Given the description of an element on the screen output the (x, y) to click on. 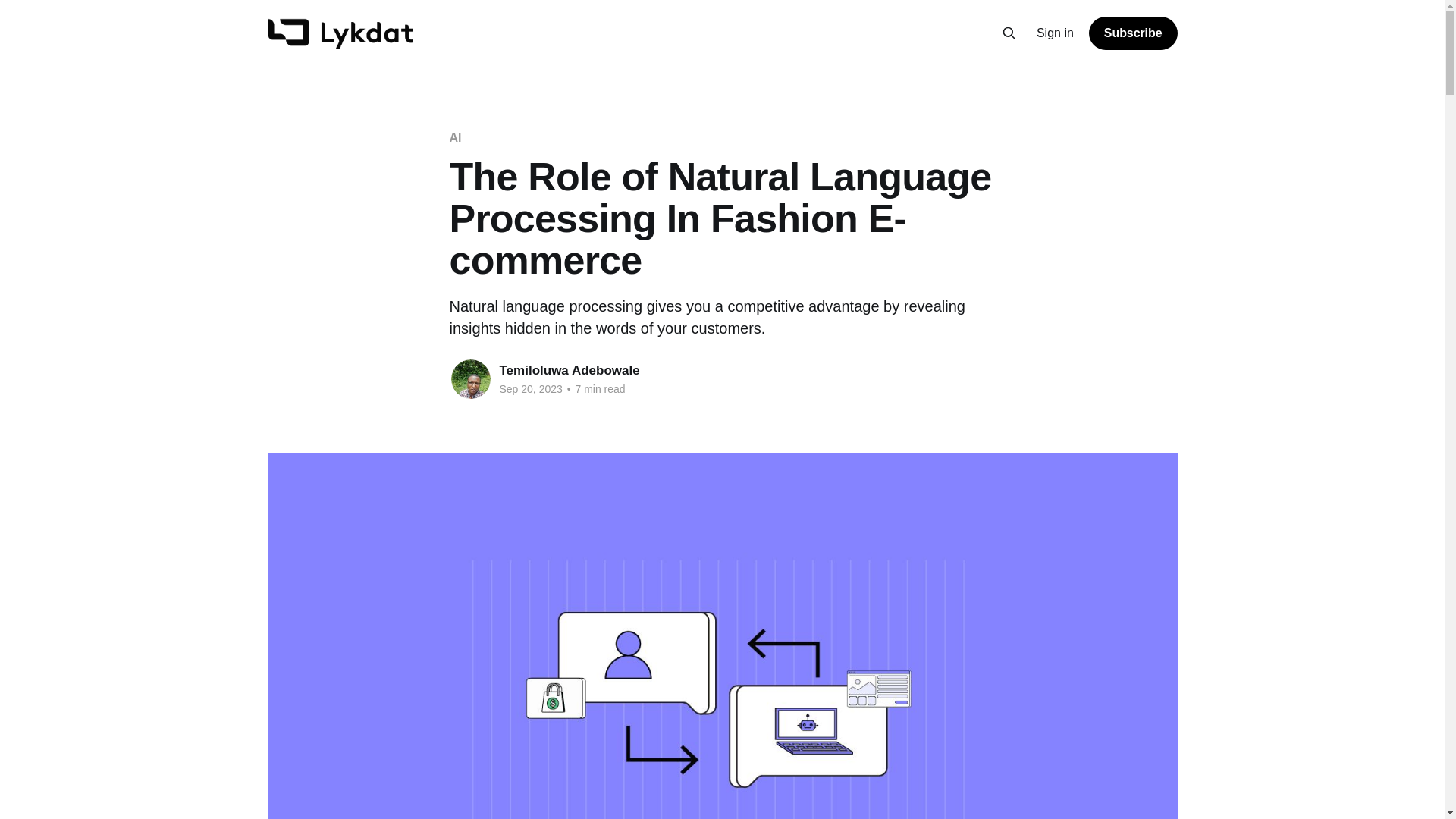
AI (454, 137)
Subscribe (1133, 32)
Temiloluwa Adebowale (569, 370)
Sign in (1055, 33)
